Given the description of an element on the screen output the (x, y) to click on. 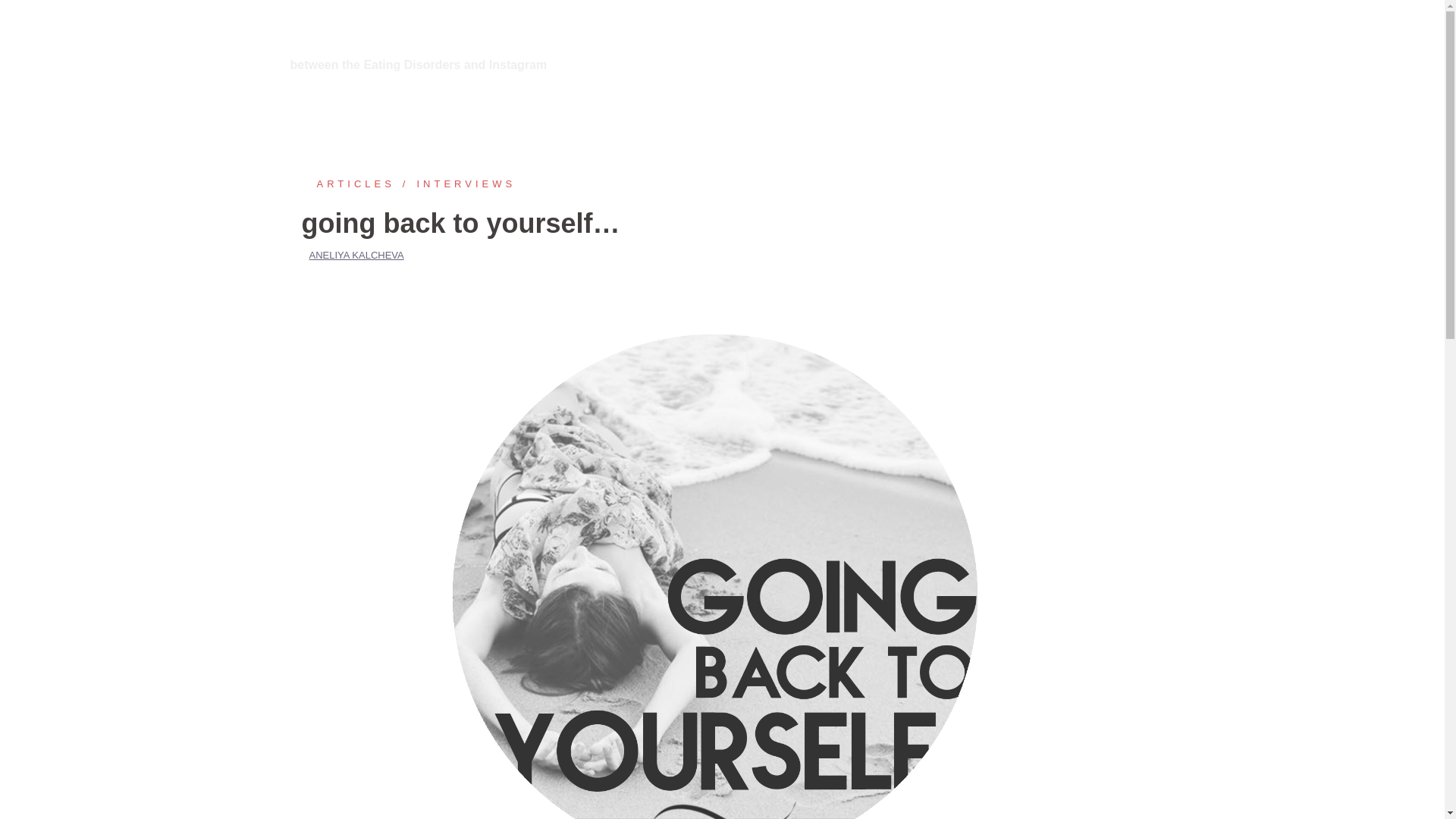
Interviews (454, 183)
INTERVIEWS (454, 183)
ABOUT (976, 45)
Inside (324, 29)
Articles (347, 183)
ANELIYA KALCHEVA (356, 255)
HOME (921, 45)
ARTICLES (347, 183)
